Given the description of an element on the screen output the (x, y) to click on. 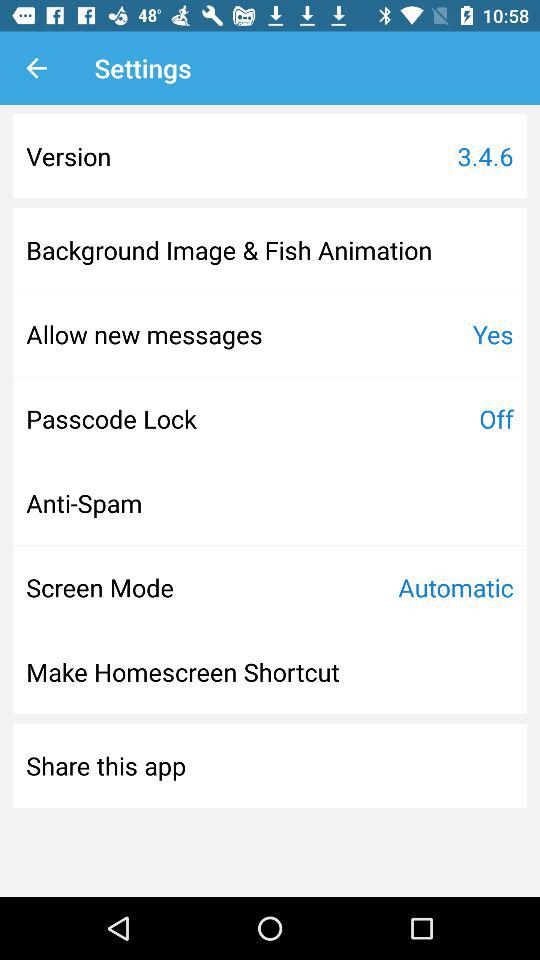
select icon to the right of the allow new messages item (492, 334)
